Given the description of an element on the screen output the (x, y) to click on. 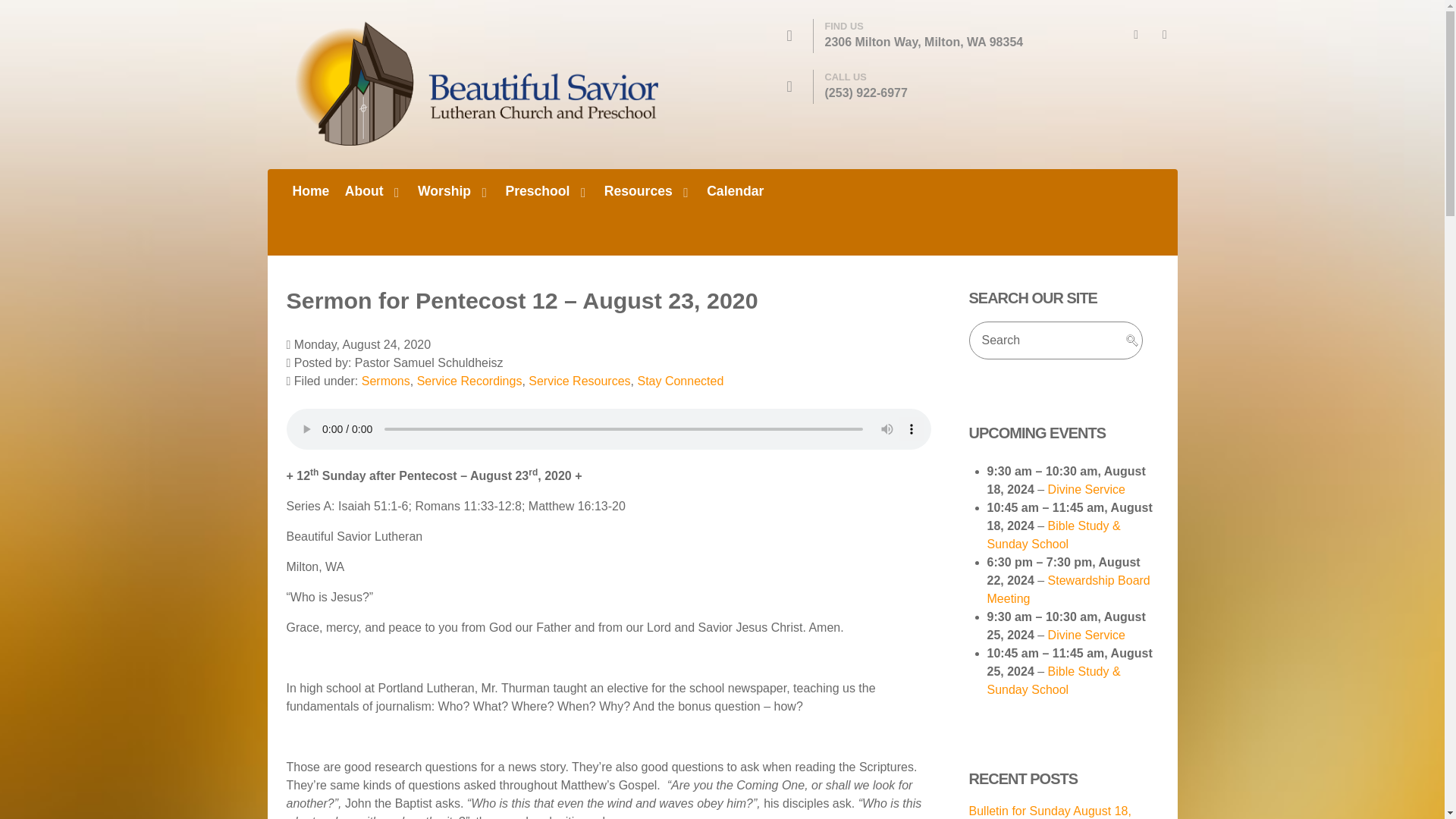
2306 Milton Way, Milton, WA 98354 (924, 42)
Stay Connected (680, 380)
YouTube (1164, 33)
Search (1055, 340)
Sermons (385, 380)
Service Recordings (469, 380)
Service Resources (579, 380)
Calendar (734, 191)
Home (311, 191)
FaceBook (1135, 33)
